Given the description of an element on the screen output the (x, y) to click on. 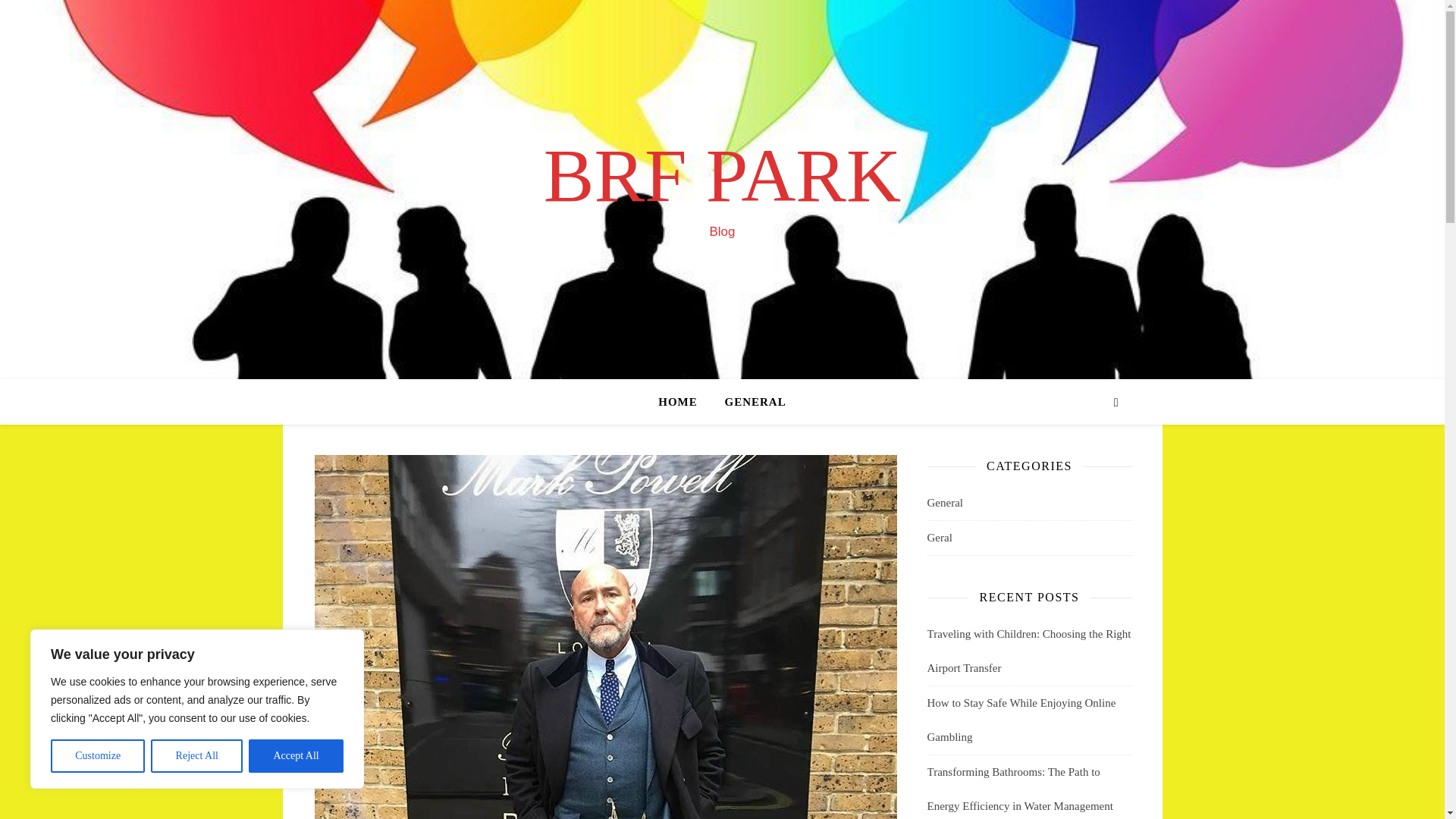
Reject All (197, 756)
Traveling with Children: Choosing the Right Airport Transfer (1028, 651)
GENERAL (749, 402)
HOME (684, 402)
Accept All (295, 756)
Customize (97, 756)
General (944, 503)
How to Stay Safe While Enjoying Online Gambling (1020, 719)
